Given the description of an element on the screen output the (x, y) to click on. 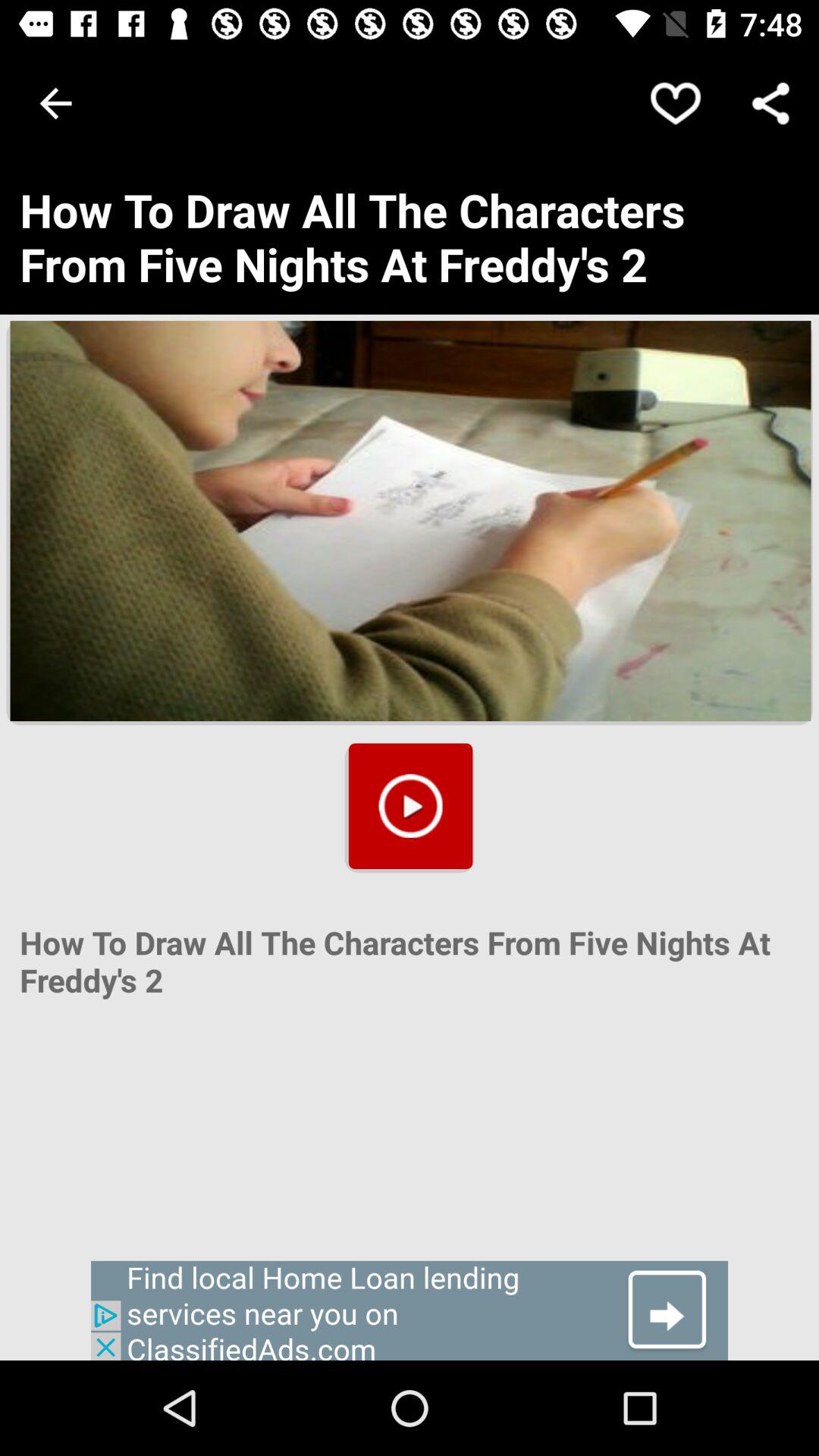
advertisement (409, 1310)
